Given the description of an element on the screen output the (x, y) to click on. 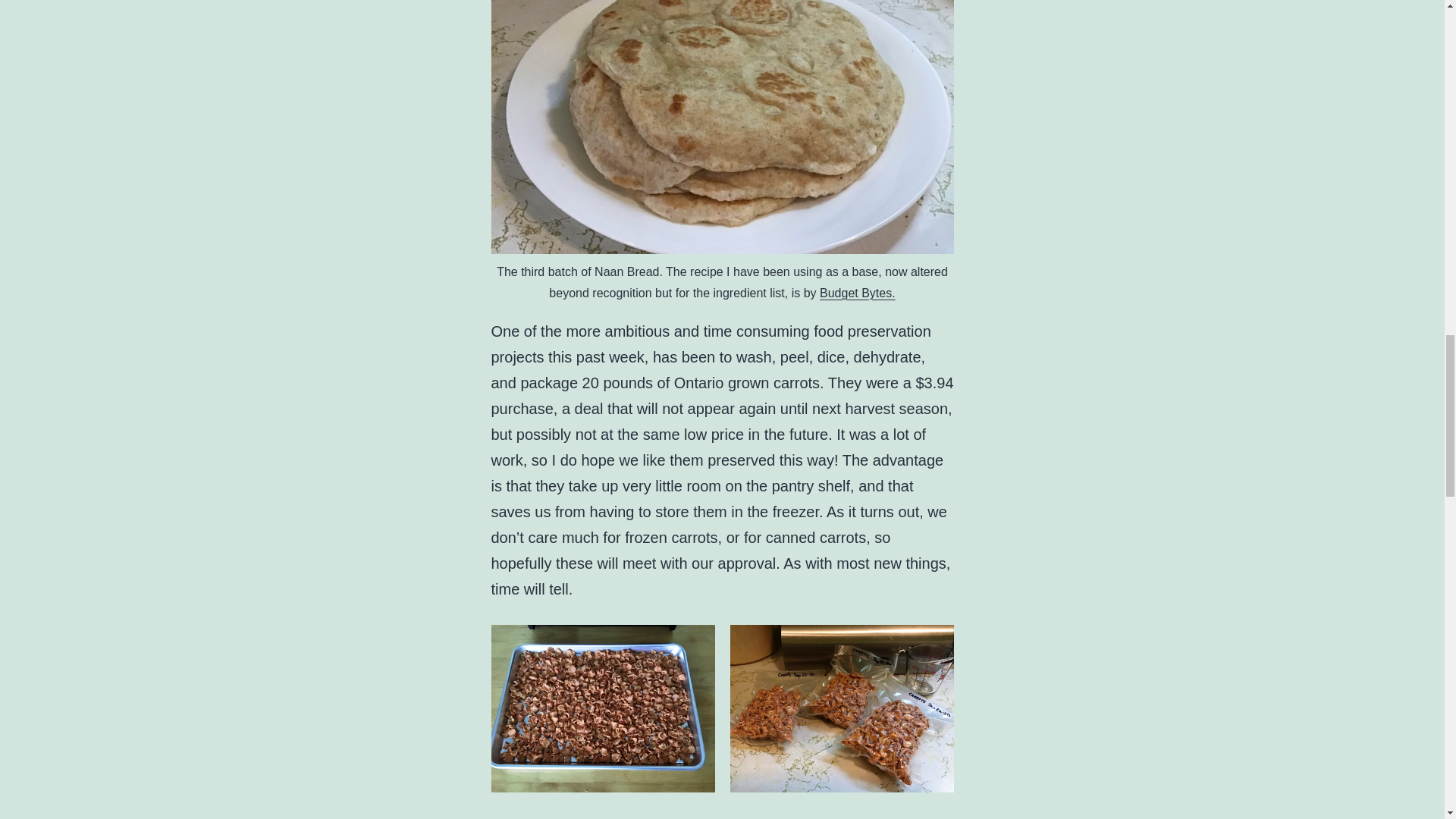
Budget Bytes. (857, 292)
